Given the description of an element on the screen output the (x, y) to click on. 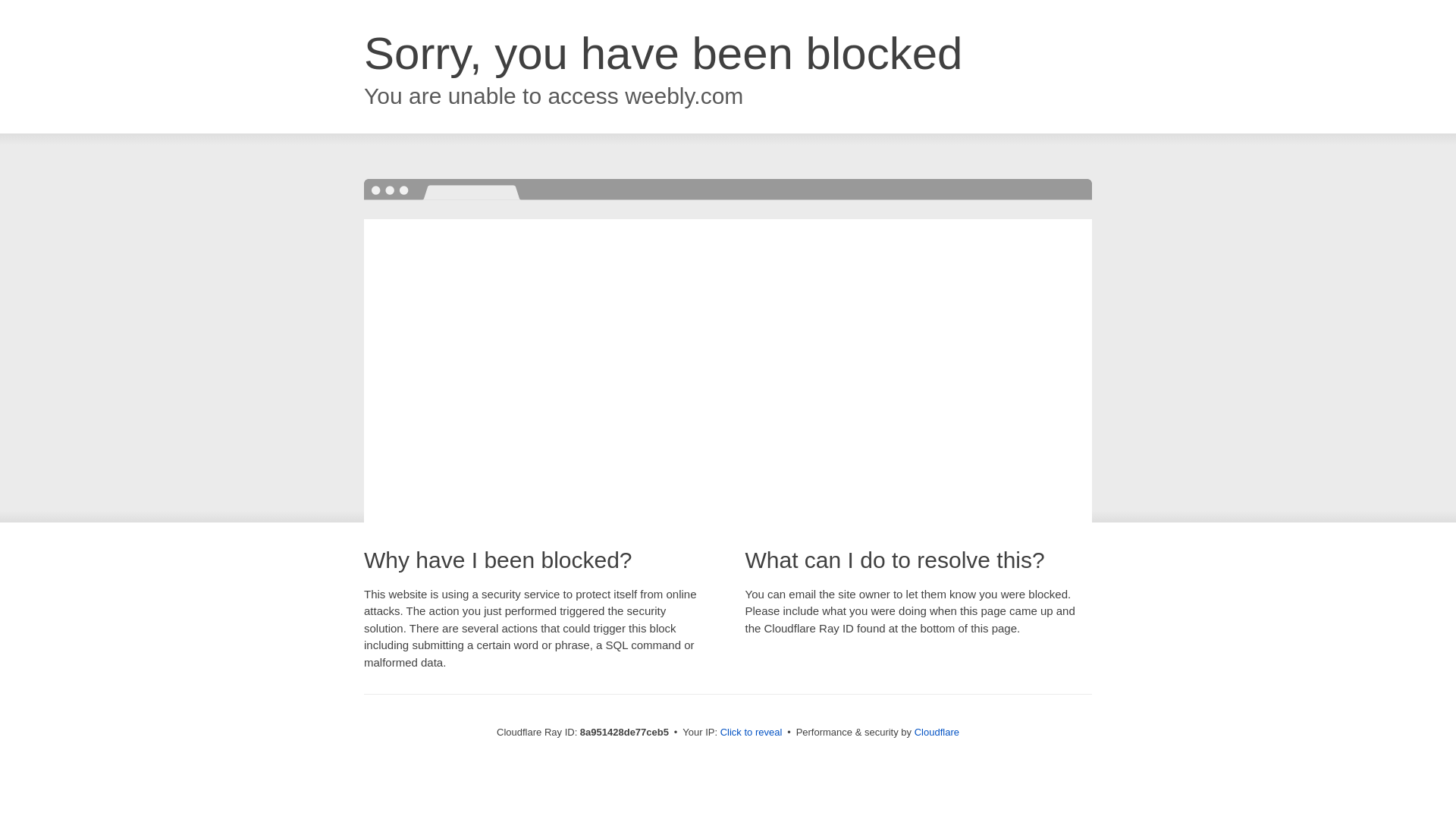
Cloudflare (936, 731)
Click to reveal (751, 732)
